Given the description of an element on the screen output the (x, y) to click on. 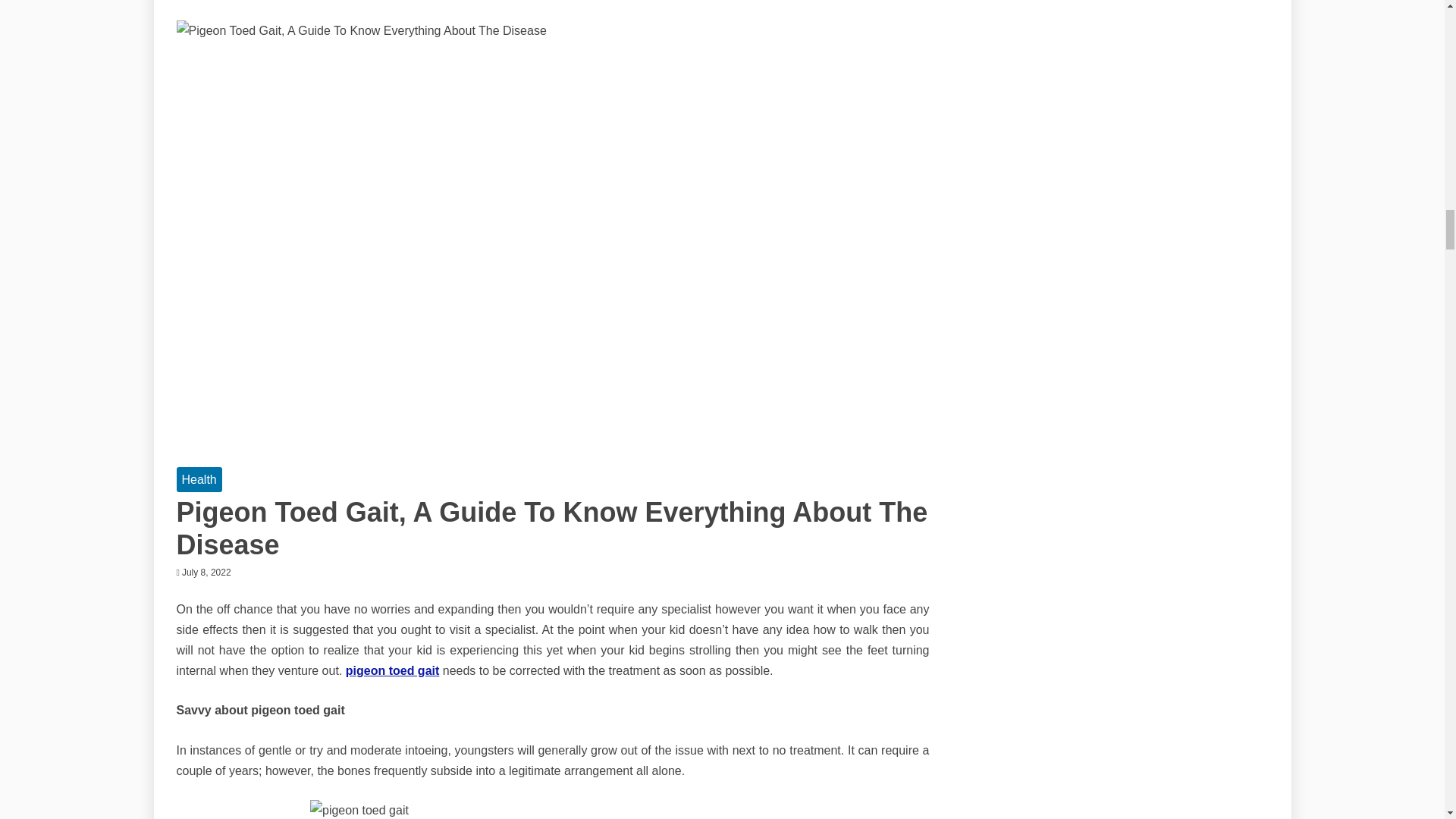
pigeon toed gait (392, 670)
July 8, 2022 (206, 572)
Health (198, 479)
